Given the description of an element on the screen output the (x, y) to click on. 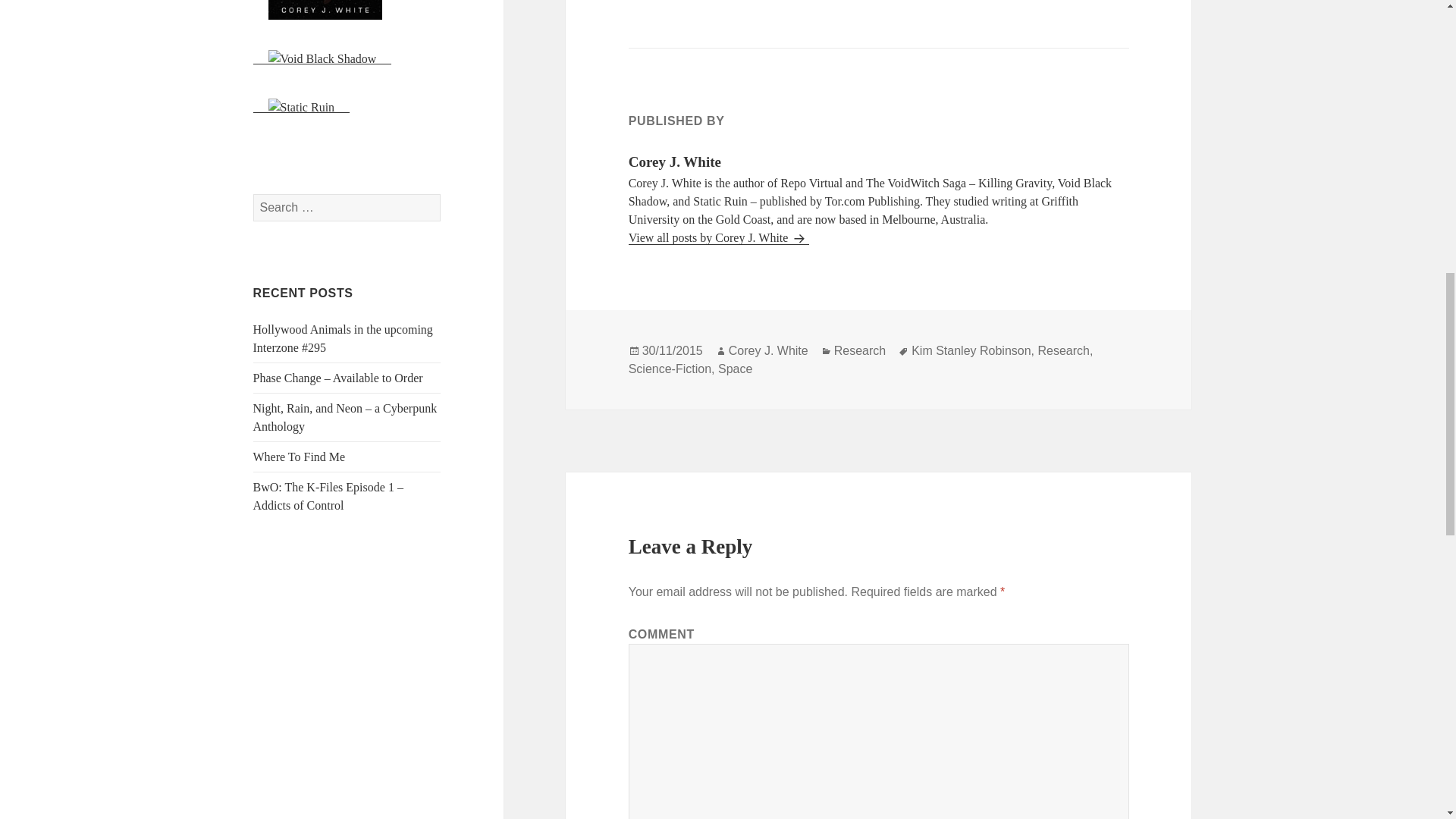
Kim Stanley Robinson (970, 350)
Research (1062, 350)
Space (734, 368)
View all posts by Corey J. White (718, 237)
Research (859, 350)
Corey J. White (768, 350)
Where To Find Me (299, 456)
Science-Fiction (669, 368)
